Given the description of an element on the screen output the (x, y) to click on. 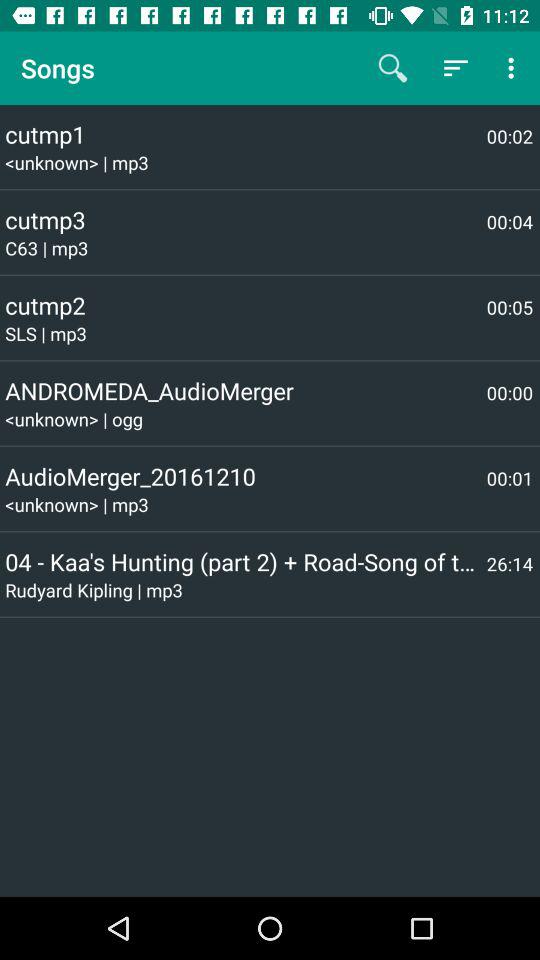
select the icon to the right of songs (392, 67)
